Given the description of an element on the screen output the (x, y) to click on. 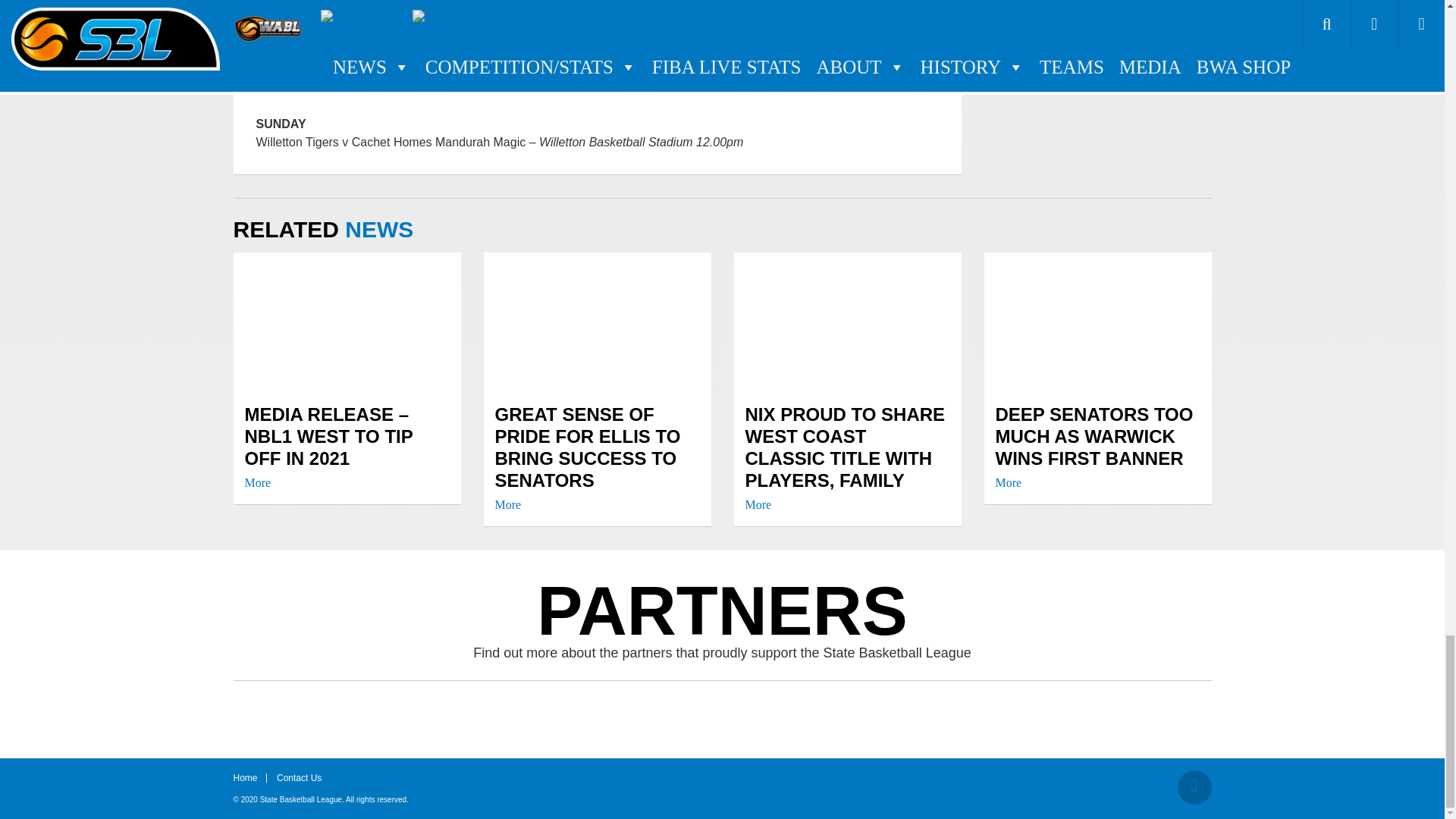
More (257, 482)
more (257, 482)
Great sense of pride for Ellis to bring success to Senators (596, 457)
